Given the description of an element on the screen output the (x, y) to click on. 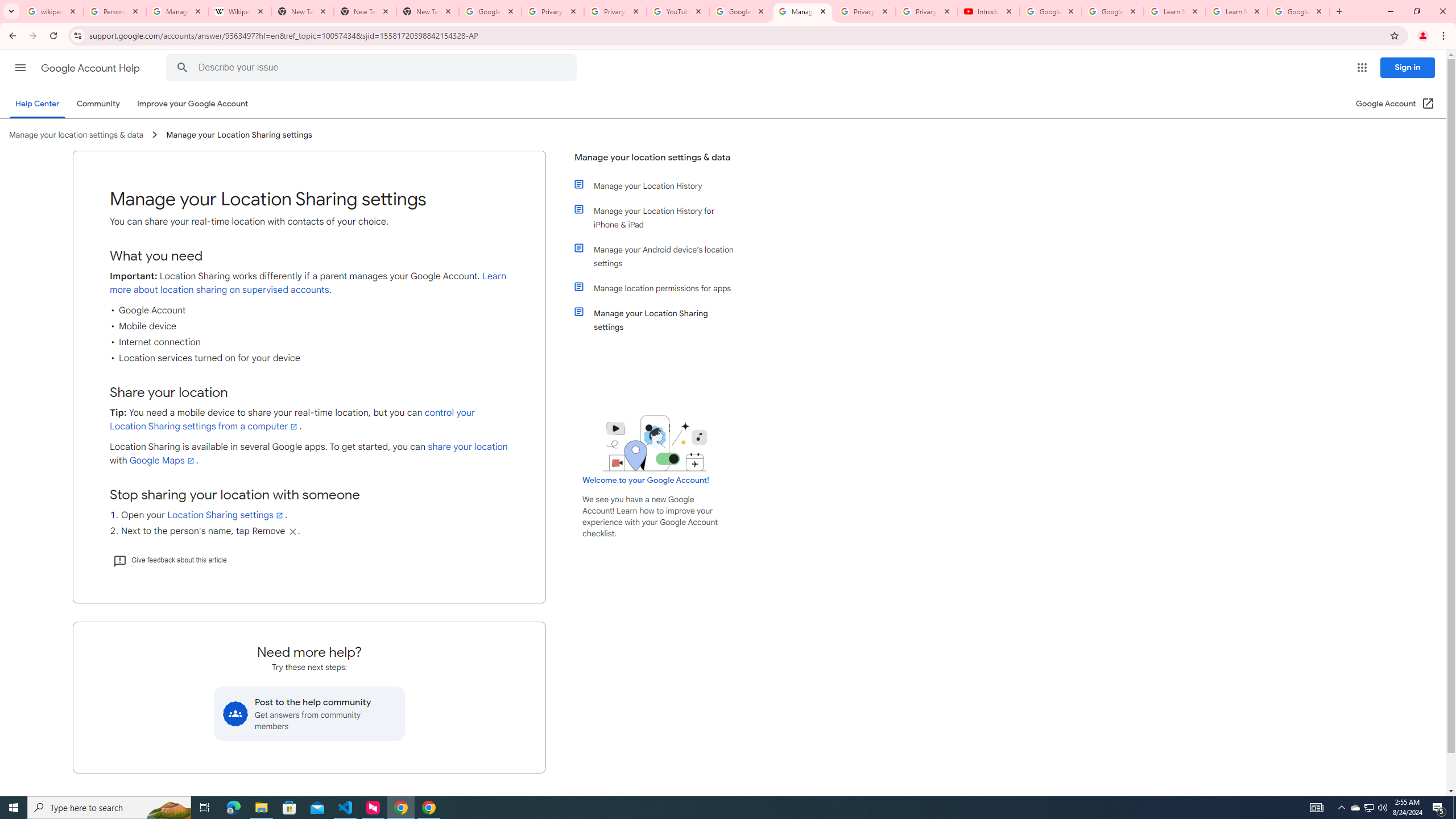
Describe your issue (373, 67)
Learn more about location sharing on supervised accounts (307, 283)
Manage your Location History - Google Search Help (177, 11)
Google Account (Open in a new window) (1395, 103)
New Tab (427, 11)
